Given the description of an element on the screen output the (x, y) to click on. 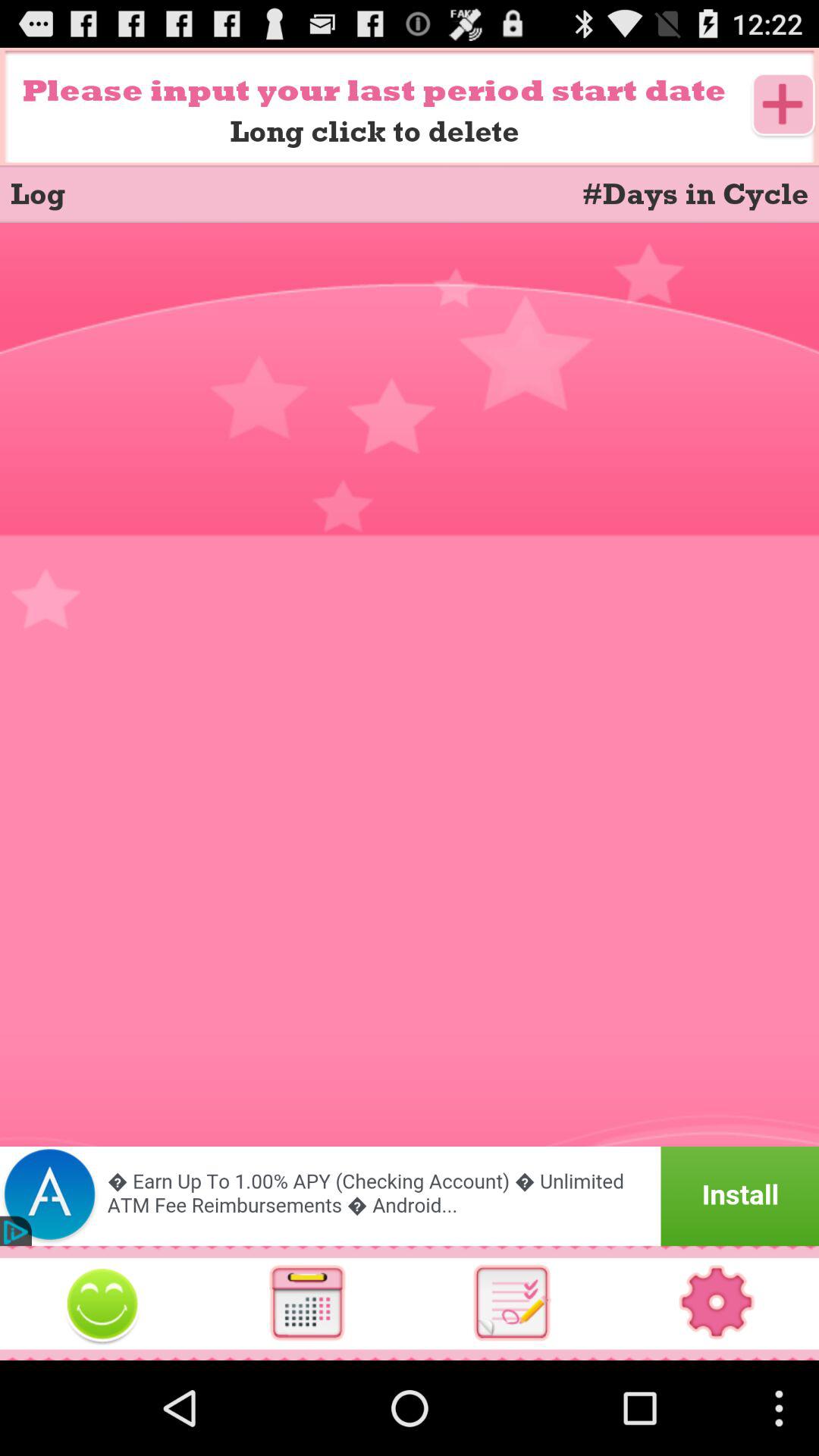
access to agenda (511, 1302)
